Given the description of an element on the screen output the (x, y) to click on. 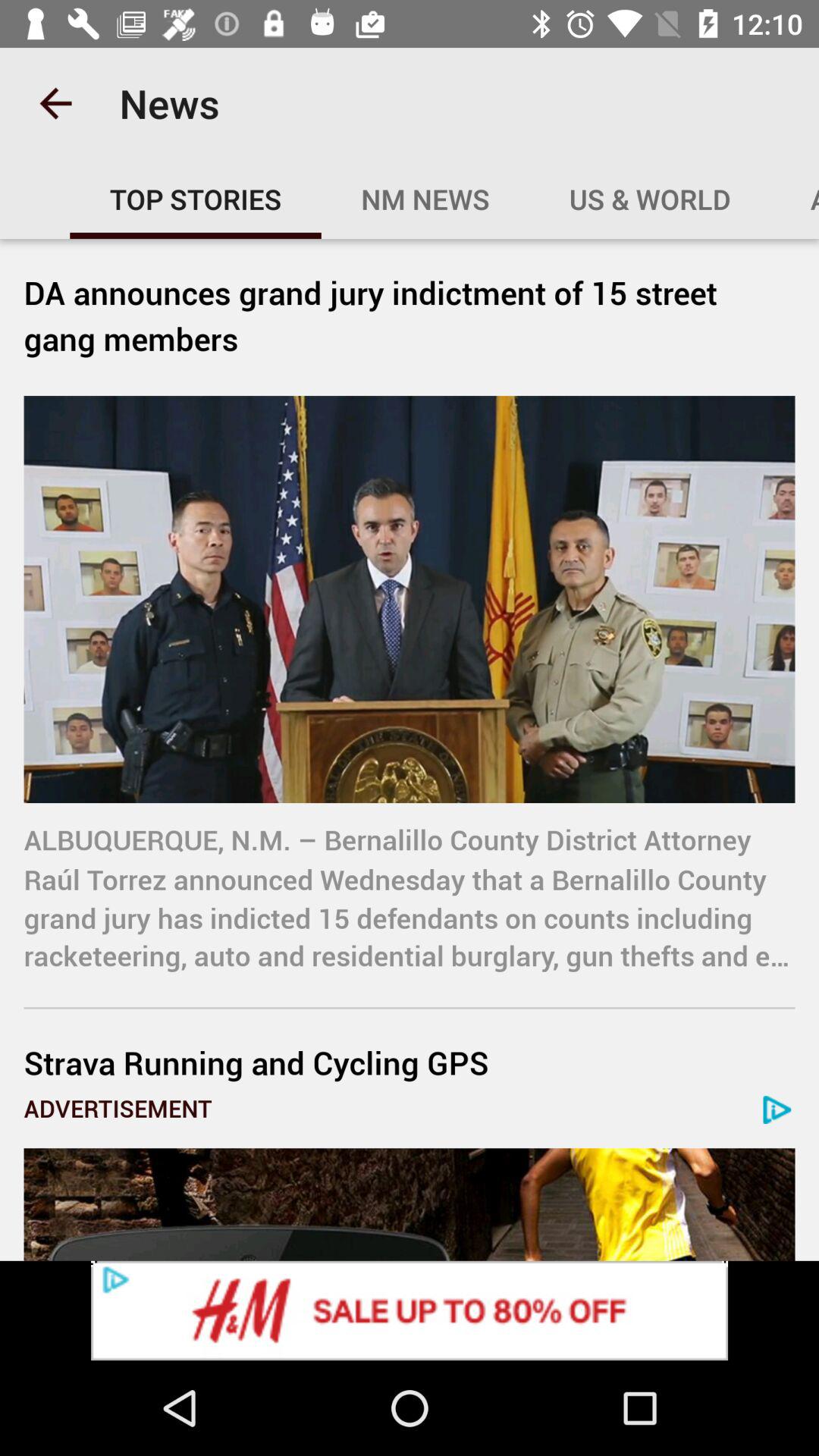
open item above the advertisement (409, 1062)
